Given the description of an element on the screen output the (x, y) to click on. 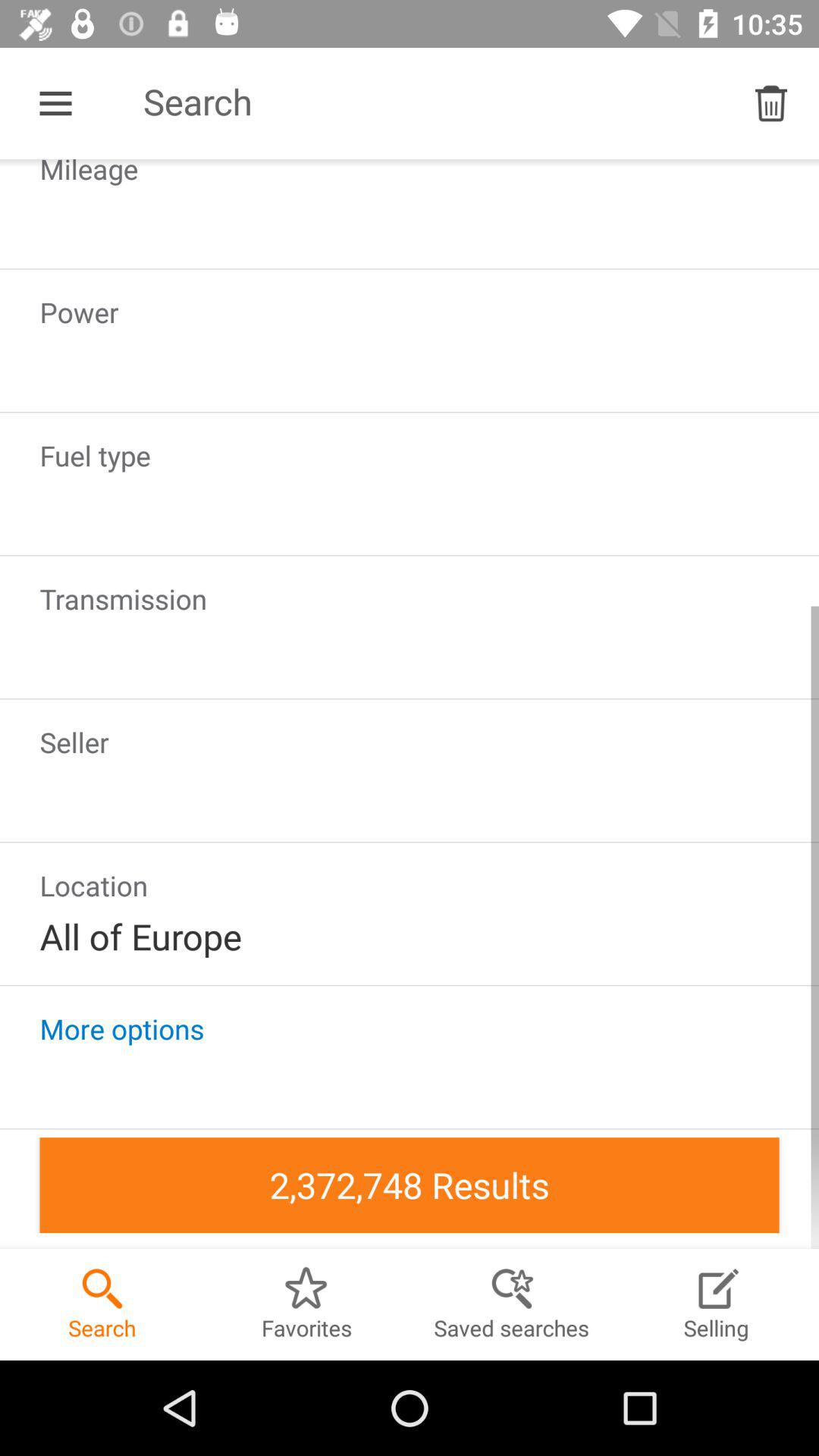
click the item above the mileage (55, 103)
